Given the description of an element on the screen output the (x, y) to click on. 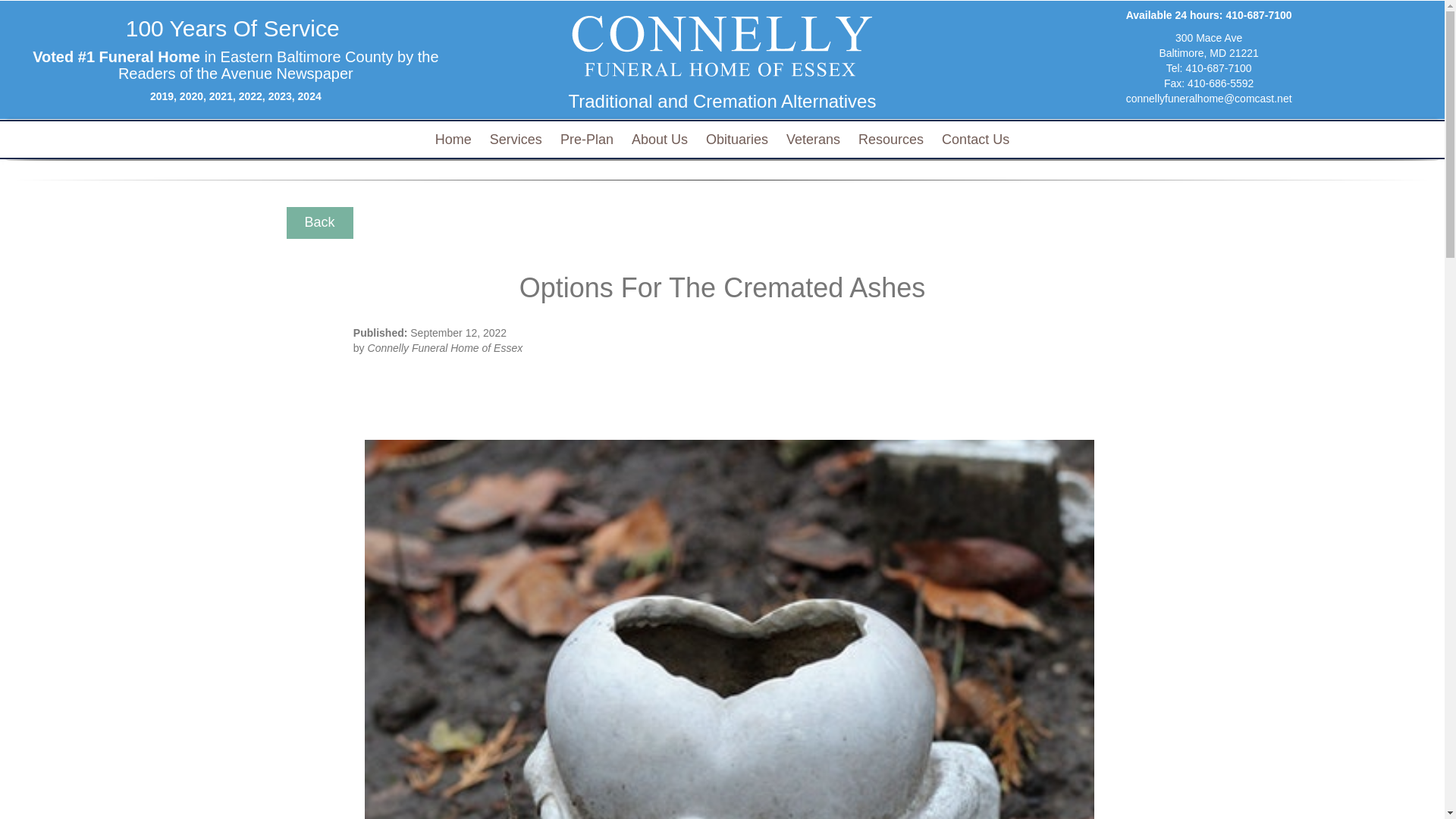
Resources (890, 139)
Contact Us (975, 139)
Services (515, 139)
About Us (660, 139)
410-687-7100 (1258, 15)
410-687-7100 (1217, 68)
Home (1208, 44)
Pre-Plan (453, 139)
Obituaries (587, 139)
